Given the description of an element on the screen output the (x, y) to click on. 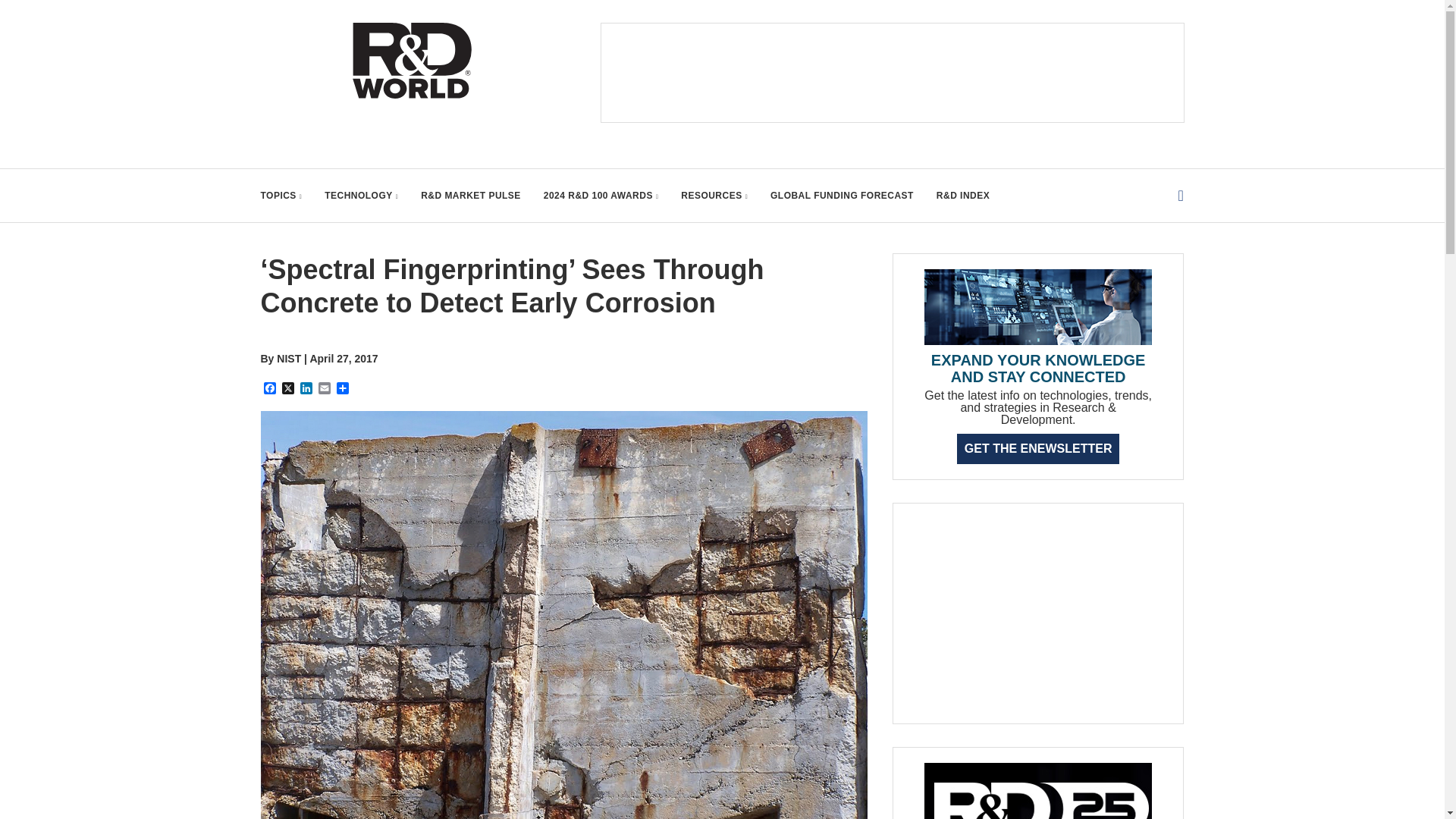
3rd party ad content (891, 72)
TECHNOLOGY (360, 194)
X (288, 389)
TOPICS (281, 194)
LinkedIn (306, 389)
3rd party ad content (1037, 613)
Facebook (269, 389)
Email (324, 389)
RESOURCES (714, 194)
